Given the description of an element on the screen output the (x, y) to click on. 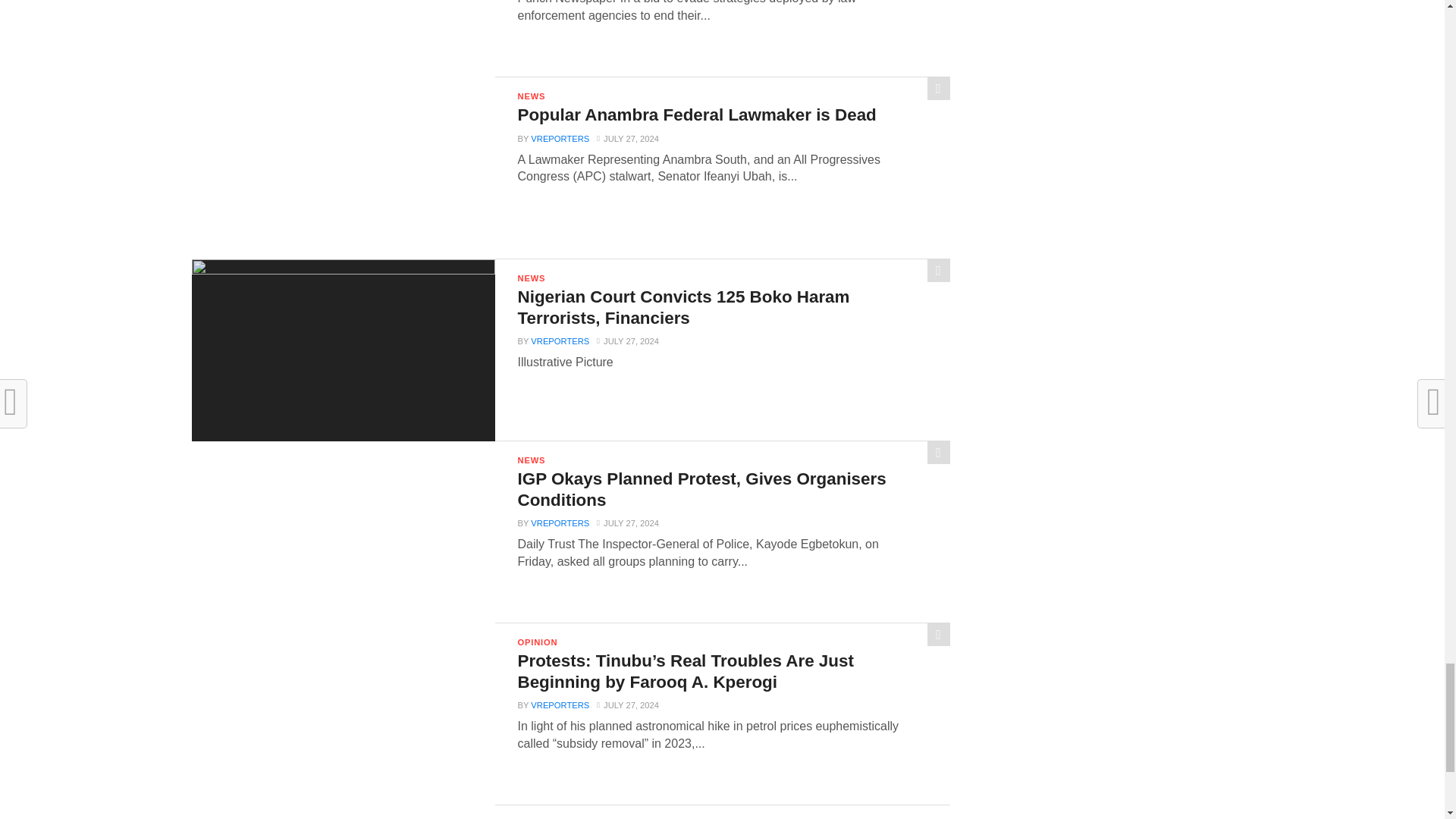
Posts by Vreporters (560, 138)
